Given the description of an element on the screen output the (x, y) to click on. 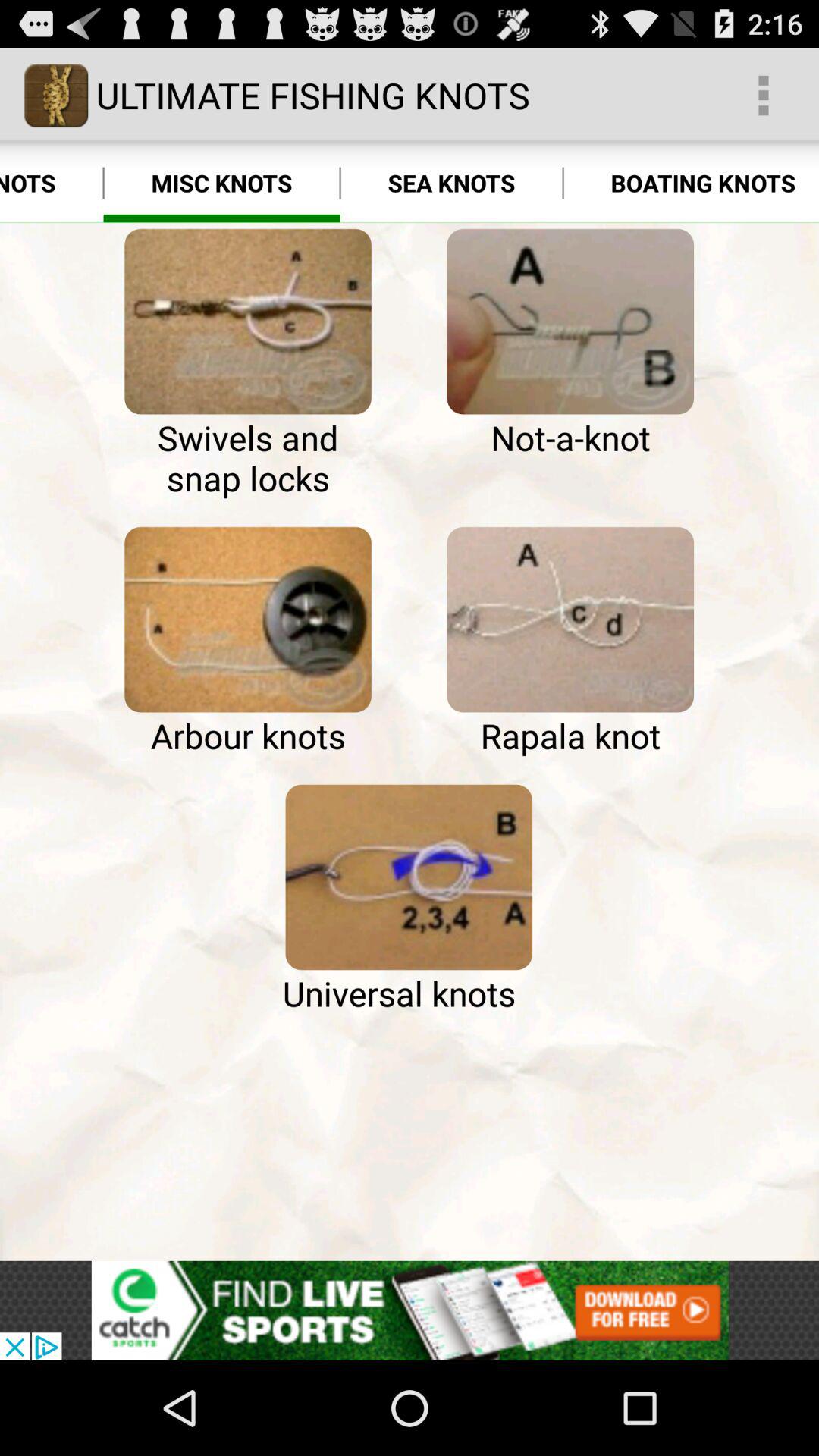
open icon at the center (408, 876)
